Given the description of an element on the screen output the (x, y) to click on. 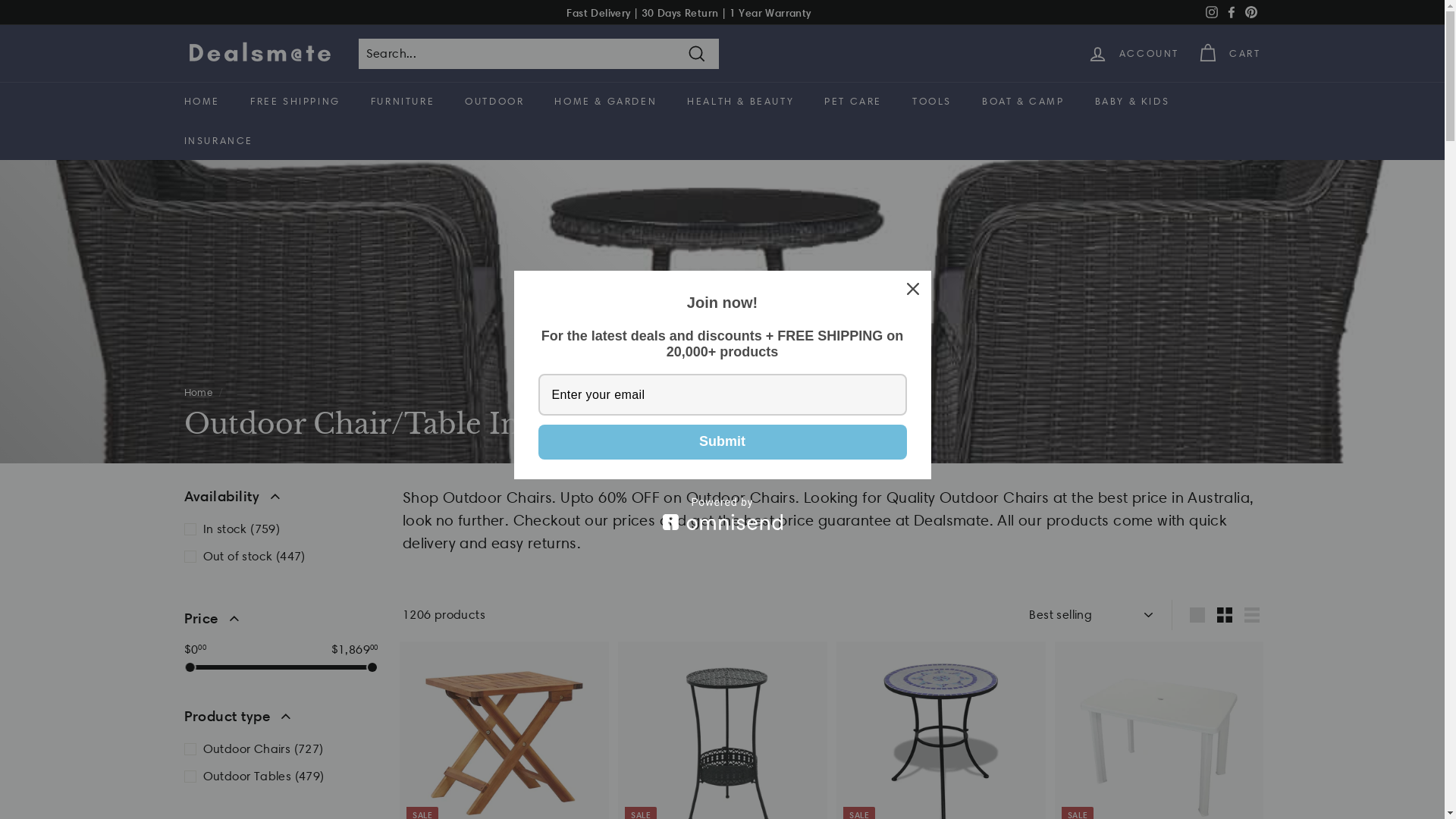
Facebook Element type: text (1230, 11)
HEALTH & BEAUTY Element type: text (740, 101)
INSURANCE Element type: text (217, 140)
OUTDOOR Element type: text (494, 101)
BABY & KIDS Element type: text (1132, 101)
Availability Element type: text (280, 500)
Submit Element type: text (722, 441)
Home Element type: text (197, 391)
FREE SHIPPING Element type: text (295, 101)
PET CARE Element type: text (853, 101)
TOOLS Element type: text (931, 101)
HOME Element type: text (201, 101)
FURNITURE Element type: text (402, 101)
Price Element type: text (280, 621)
ACCOUNT Element type: text (1133, 53)
HOME & GARDEN Element type: text (605, 101)
List Element type: text (1251, 614)
BOAT & CAMP Element type: text (1022, 101)
Small Element type: text (1224, 614)
Instagram Element type: text (1210, 11)
Pinterest Element type: text (1250, 11)
Large Element type: text (1197, 614)
Product type Element type: text (280, 720)
Skip to content Element type: text (0, 0)
